Given the description of an element on the screen output the (x, y) to click on. 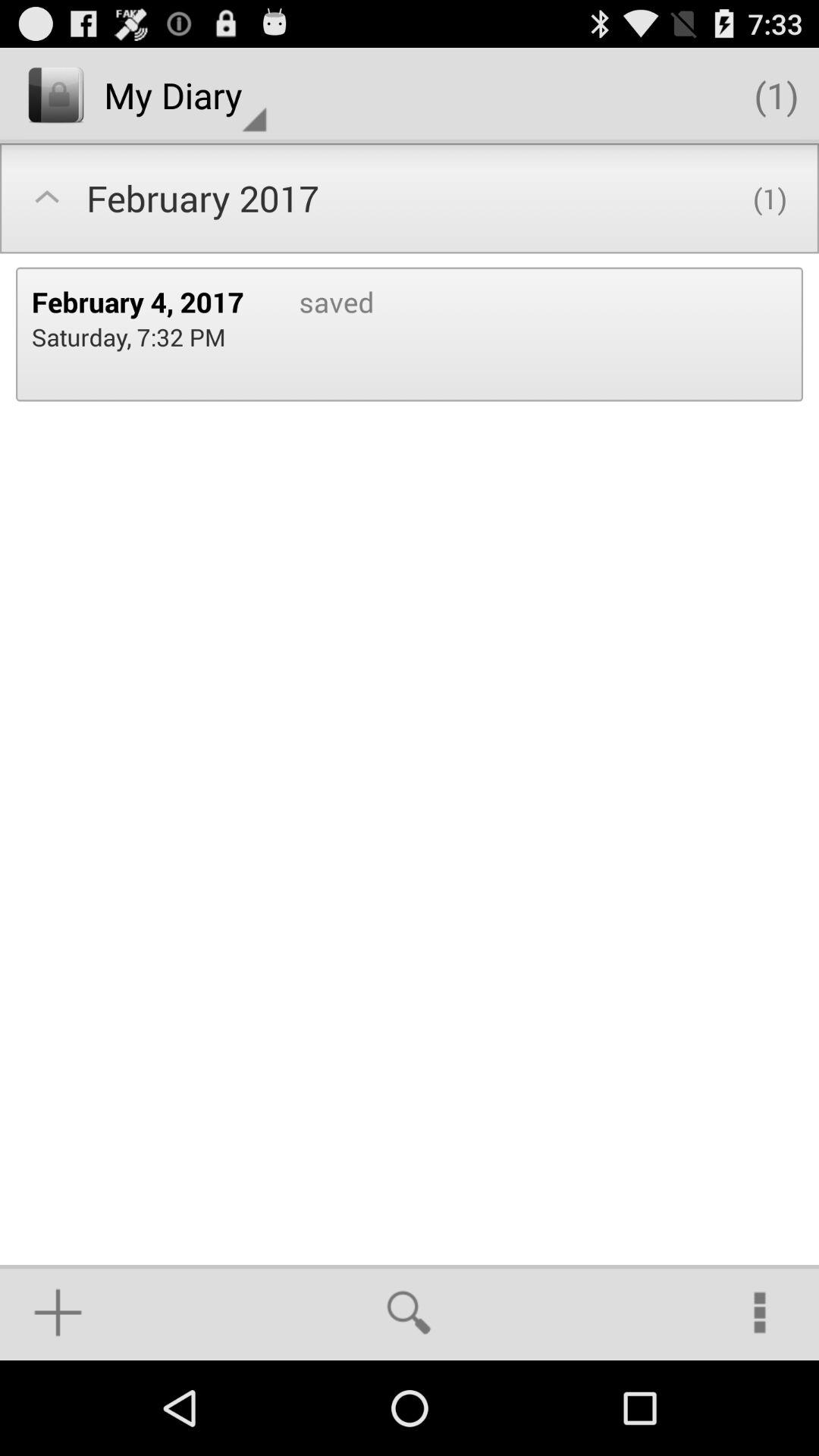
turn off the icon below saved item (408, 1312)
